Given the description of an element on the screen output the (x, y) to click on. 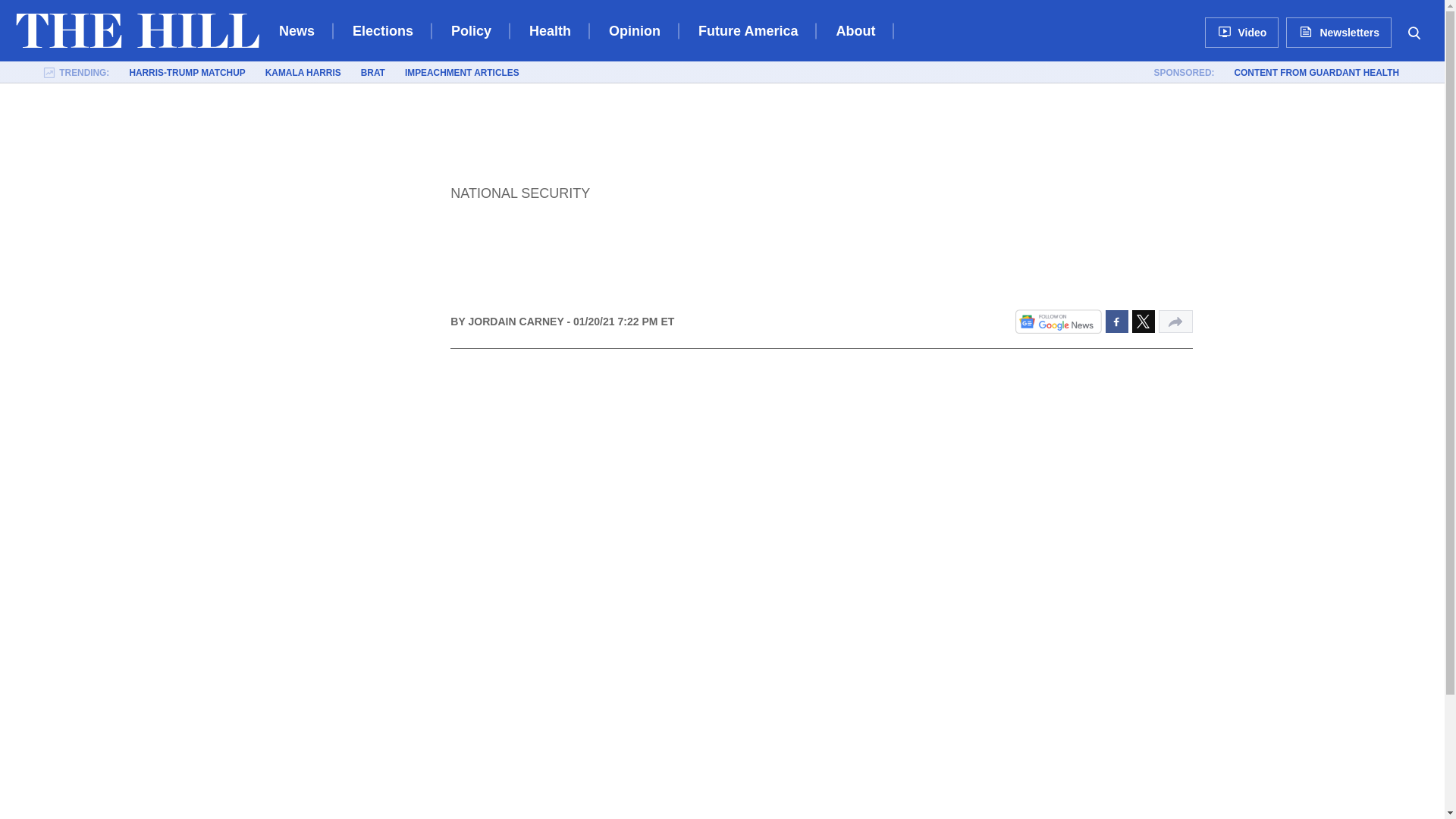
News (296, 30)
Health (549, 30)
Search (1414, 31)
Elections (382, 30)
National Security (519, 193)
Policy (471, 30)
Opinion (634, 30)
